Given the description of an element on the screen output the (x, y) to click on. 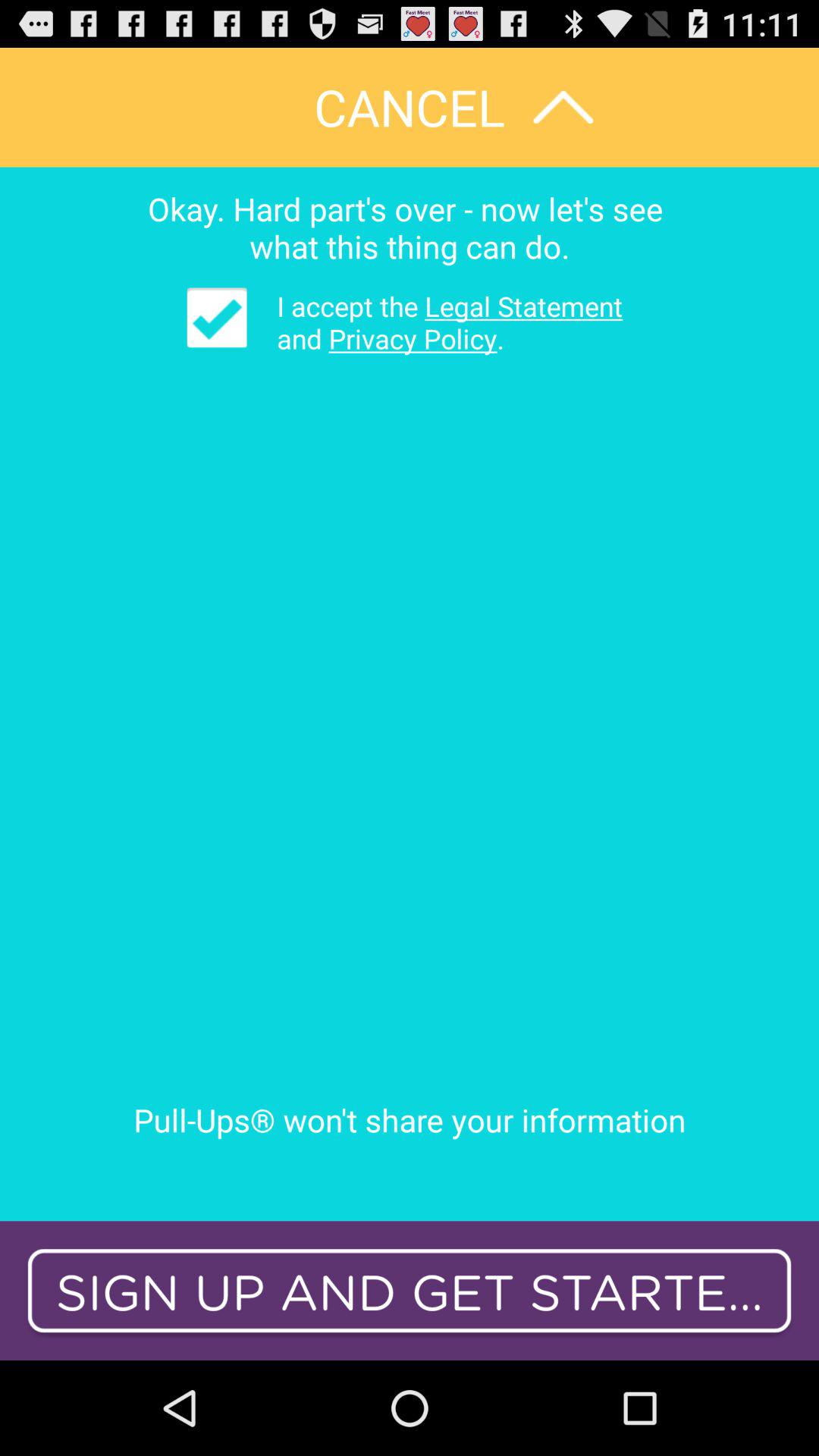
accept the statement (216, 317)
